Given the description of an element on the screen output the (x, y) to click on. 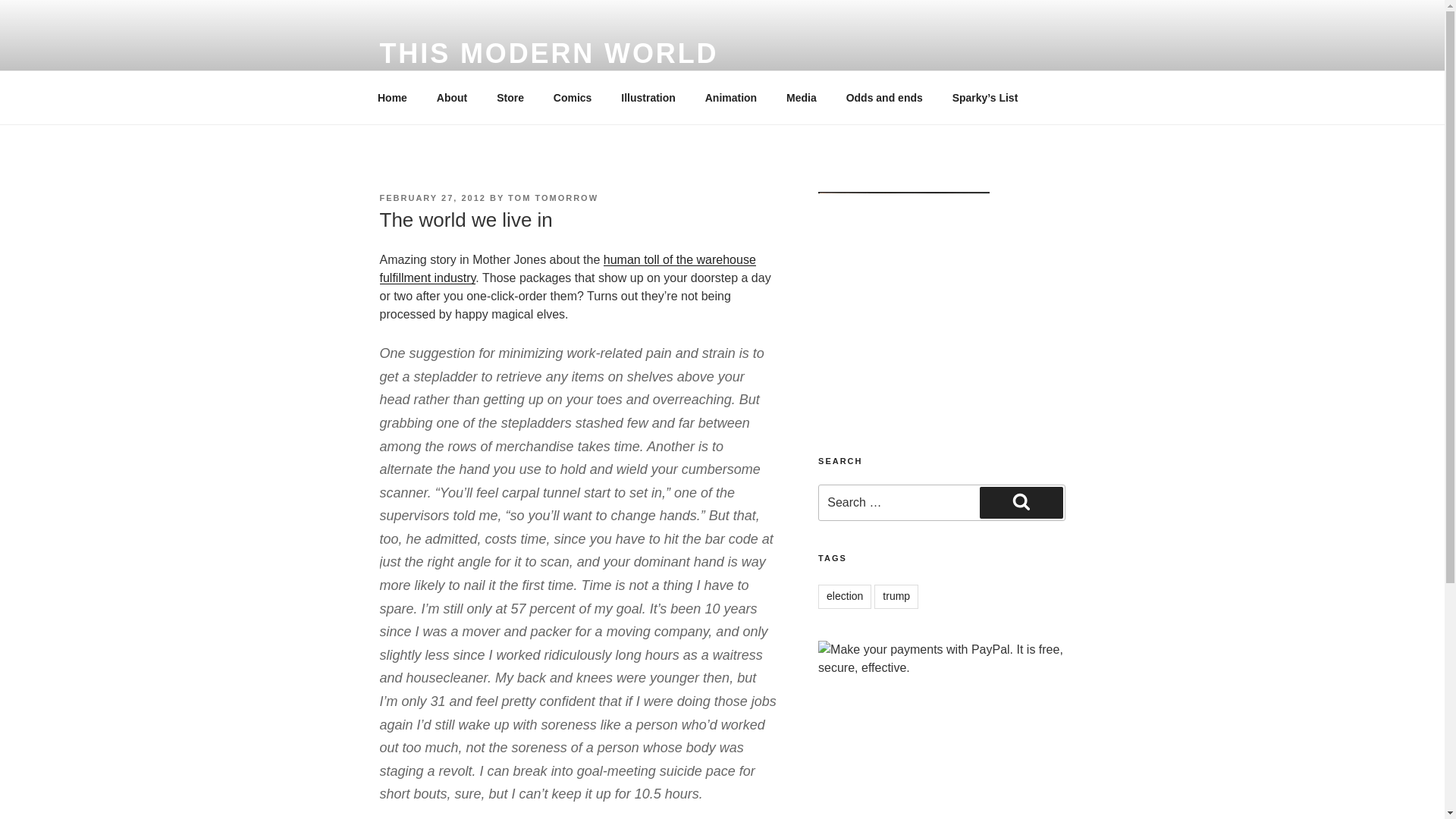
Comics (572, 97)
THIS MODERN WORLD (547, 52)
Illustration (648, 97)
FEBRUARY 27, 2012 (431, 197)
human toll of the warehouse fulfillment industry (566, 268)
Store (510, 97)
trump (896, 596)
election (844, 596)
Home (392, 97)
Search (1020, 502)
